Given the description of an element on the screen output the (x, y) to click on. 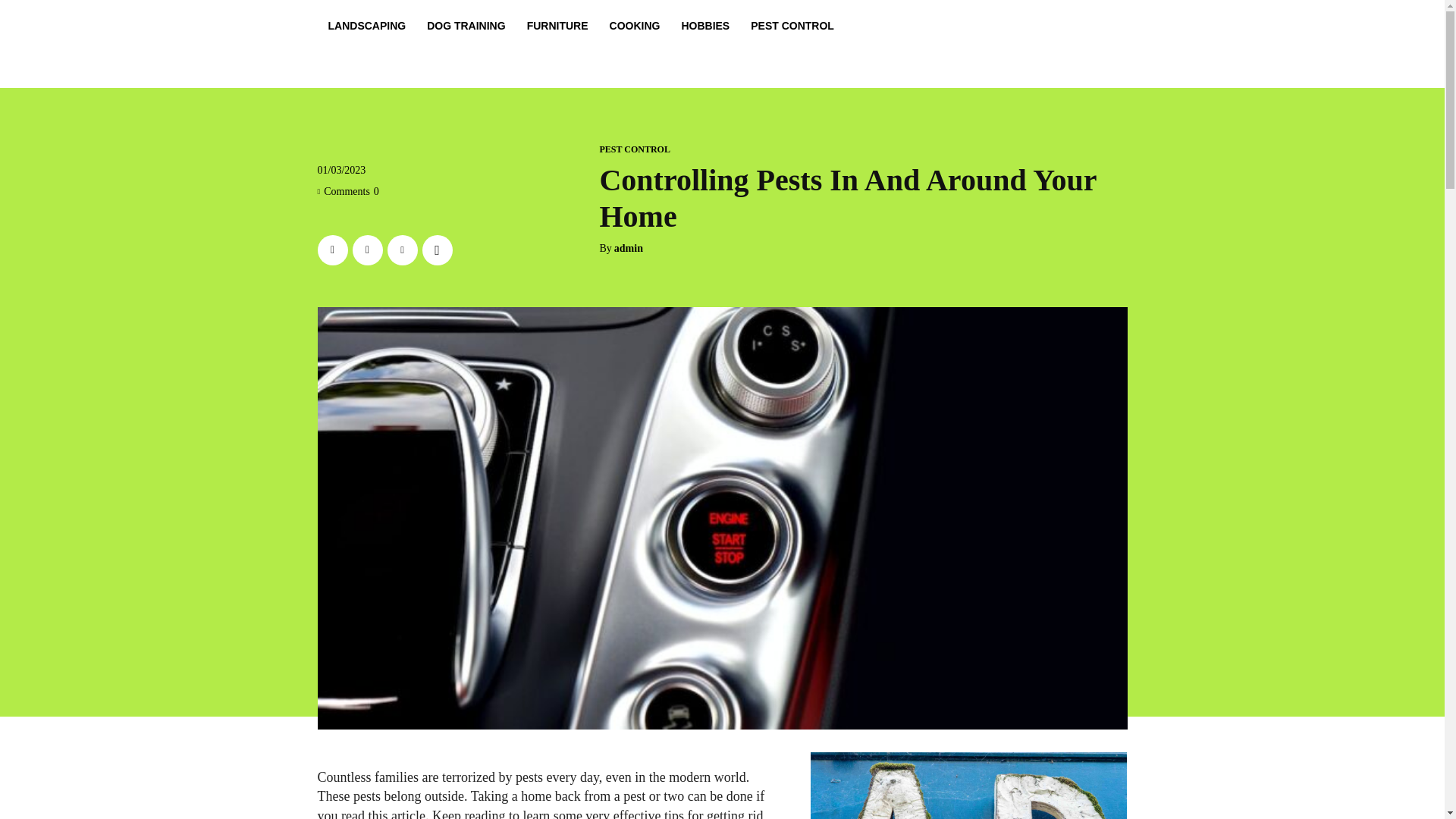
DOG TRAINING (465, 25)
PEST CONTROL (633, 149)
WhatsApp (436, 250)
COOKING (634, 25)
Pinterest (401, 250)
Facebook (332, 250)
HOBBIES (704, 25)
Comments0 (347, 191)
LANDSCAPING (366, 25)
PEST CONTROL (791, 25)
FURNITURE (557, 25)
admin (628, 248)
Twitter (366, 250)
